Given the description of an element on the screen output the (x, y) to click on. 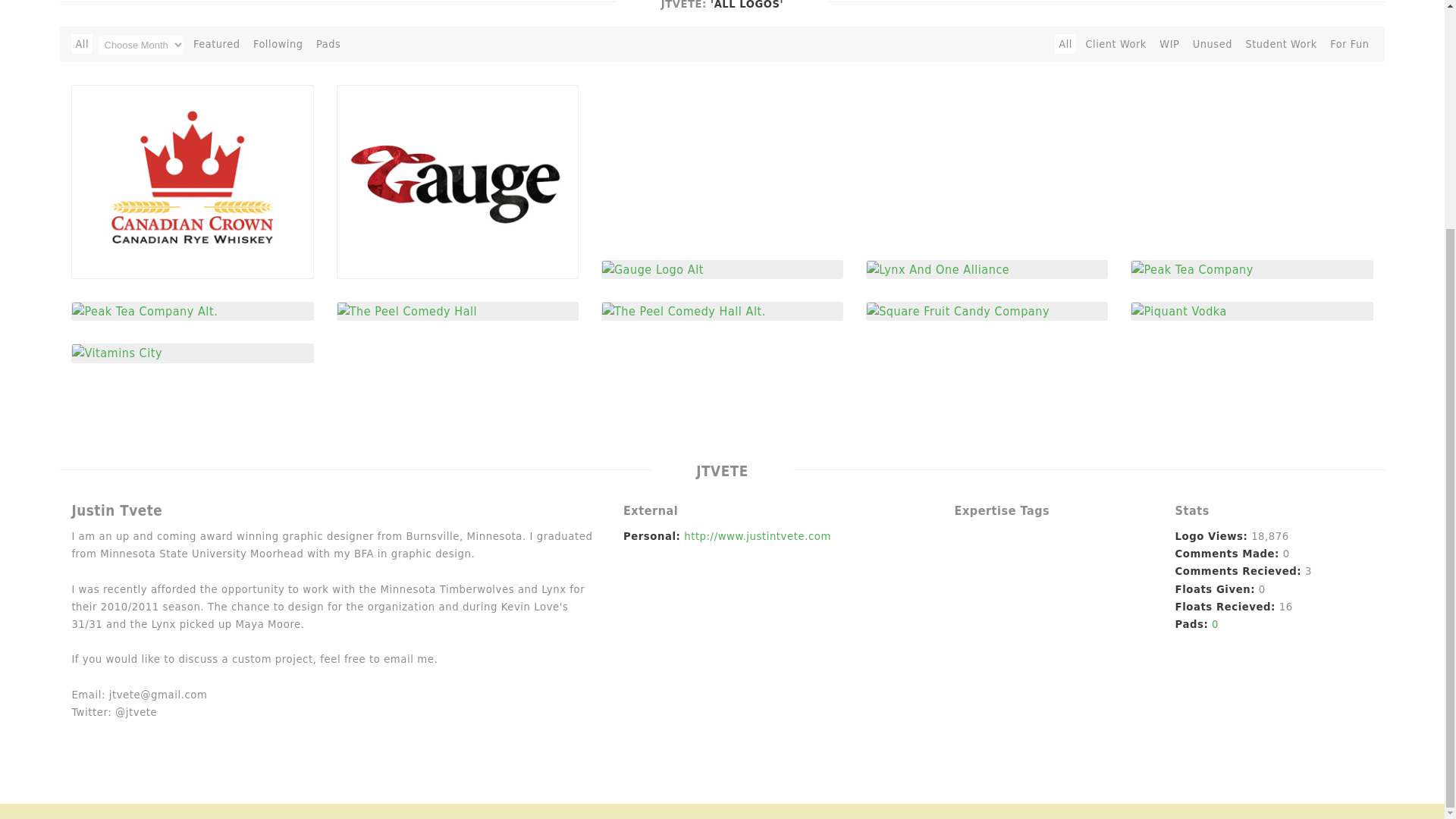
Peak Tea Company (1191, 268)
Pads (328, 44)
Peak Tea Company Alt. (143, 310)
Following (277, 44)
Gauge Logo Alt (652, 268)
Canadian Crown Whiskey (192, 181)
Lynx And One Alliance (937, 268)
Client Work (1115, 44)
Student Work (1280, 44)
WIP (1169, 44)
